Given the description of an element on the screen output the (x, y) to click on. 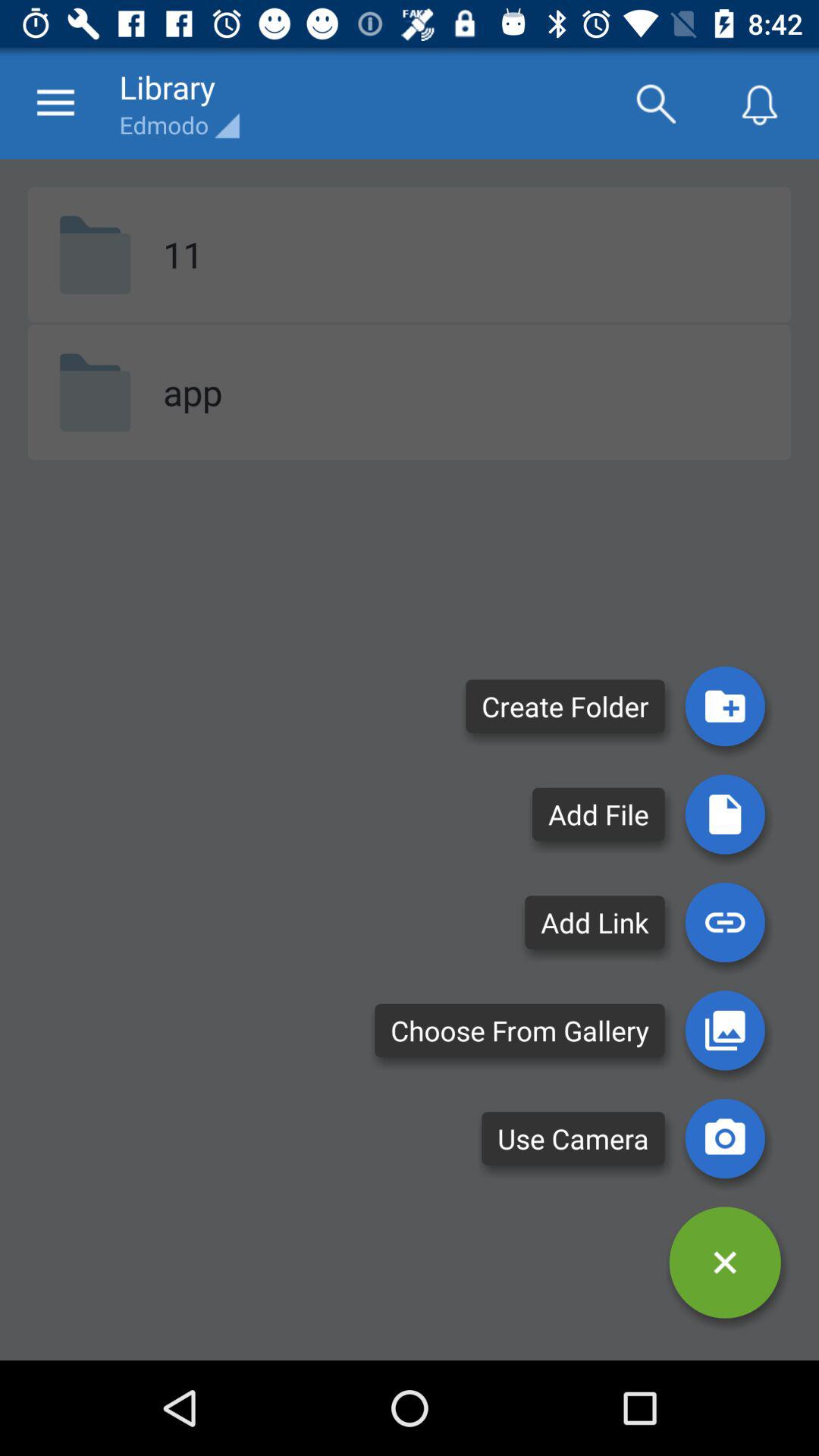
create folder (725, 706)
